Given the description of an element on the screen output the (x, y) to click on. 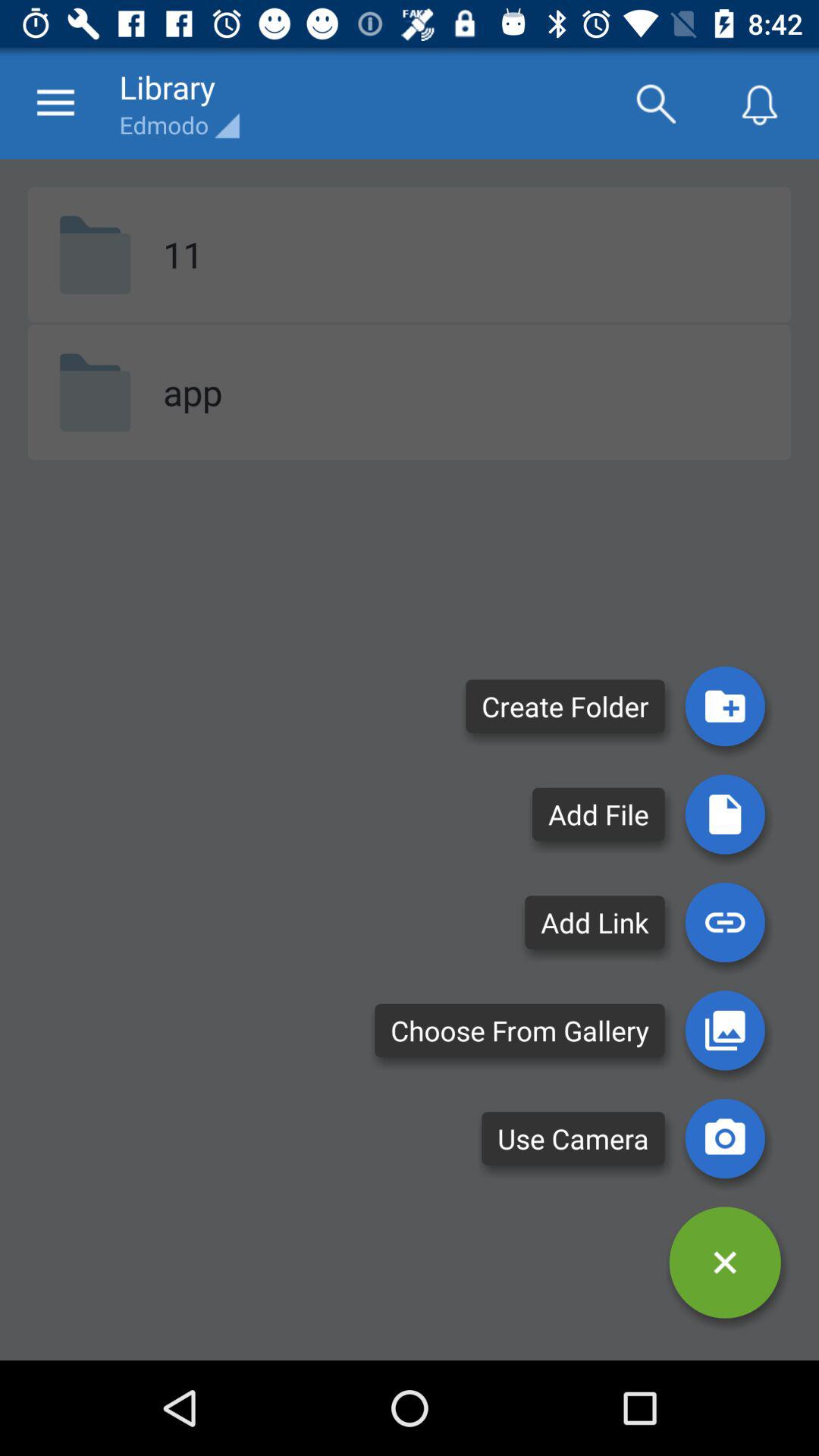
create folder (725, 706)
